Given the description of an element on the screen output the (x, y) to click on. 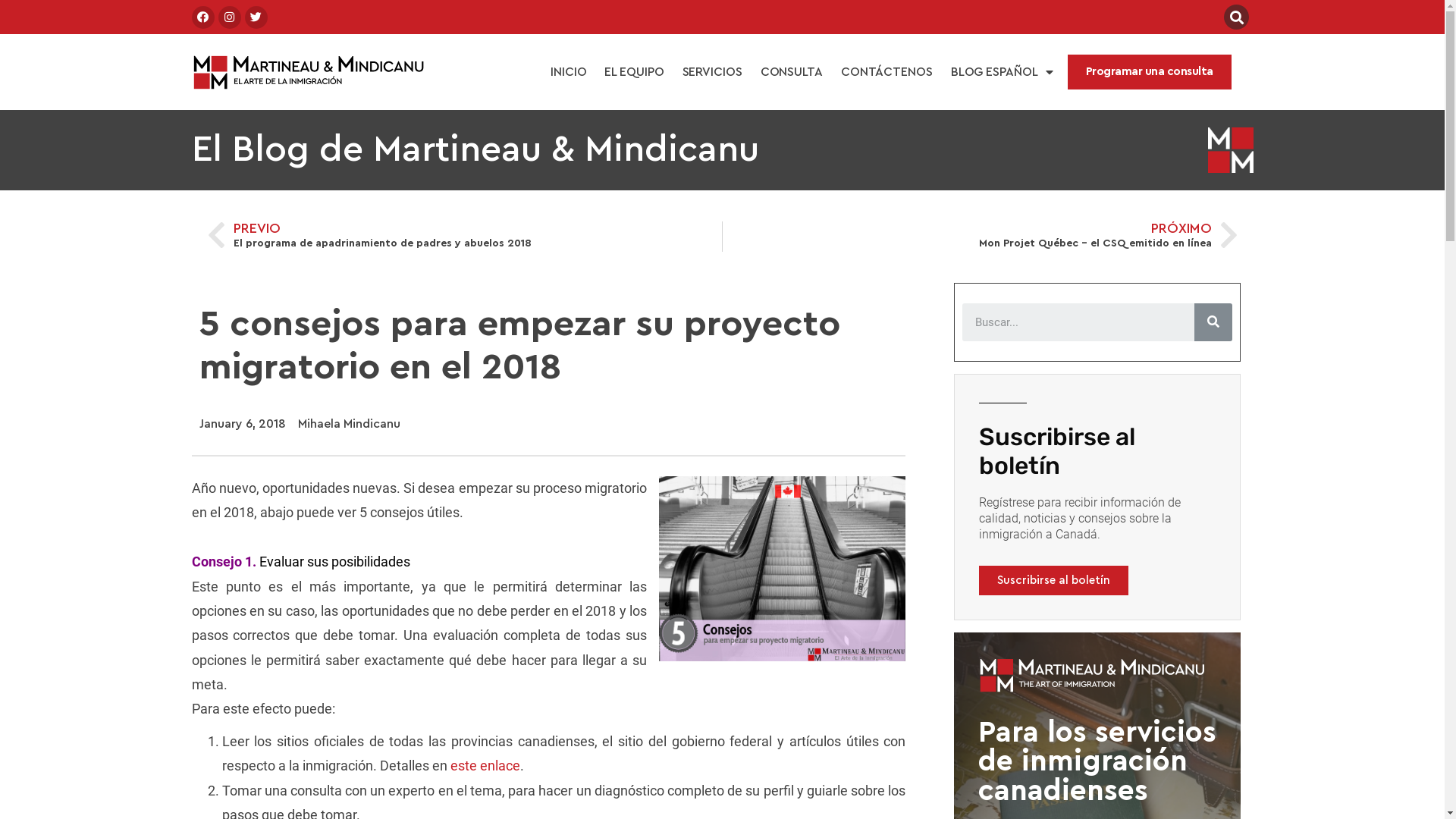
5 consejos para empezar su proyecto migratorio en el 2018 - Element type: hover (781, 568)
INICIO Element type: text (568, 71)
Programar una consulta Element type: text (1149, 72)
SERVICIOS Element type: text (712, 71)
Mihaela Mindicanu Element type: text (348, 424)
este enlace Element type: text (485, 765)
Search Element type: hover (1078, 322)
January 6, 2018 Element type: text (241, 424)
Search Element type: hover (1213, 322)
CONSULTA Element type: text (791, 71)
EL EQUIPO Element type: text (633, 71)
